Given the description of an element on the screen output the (x, y) to click on. 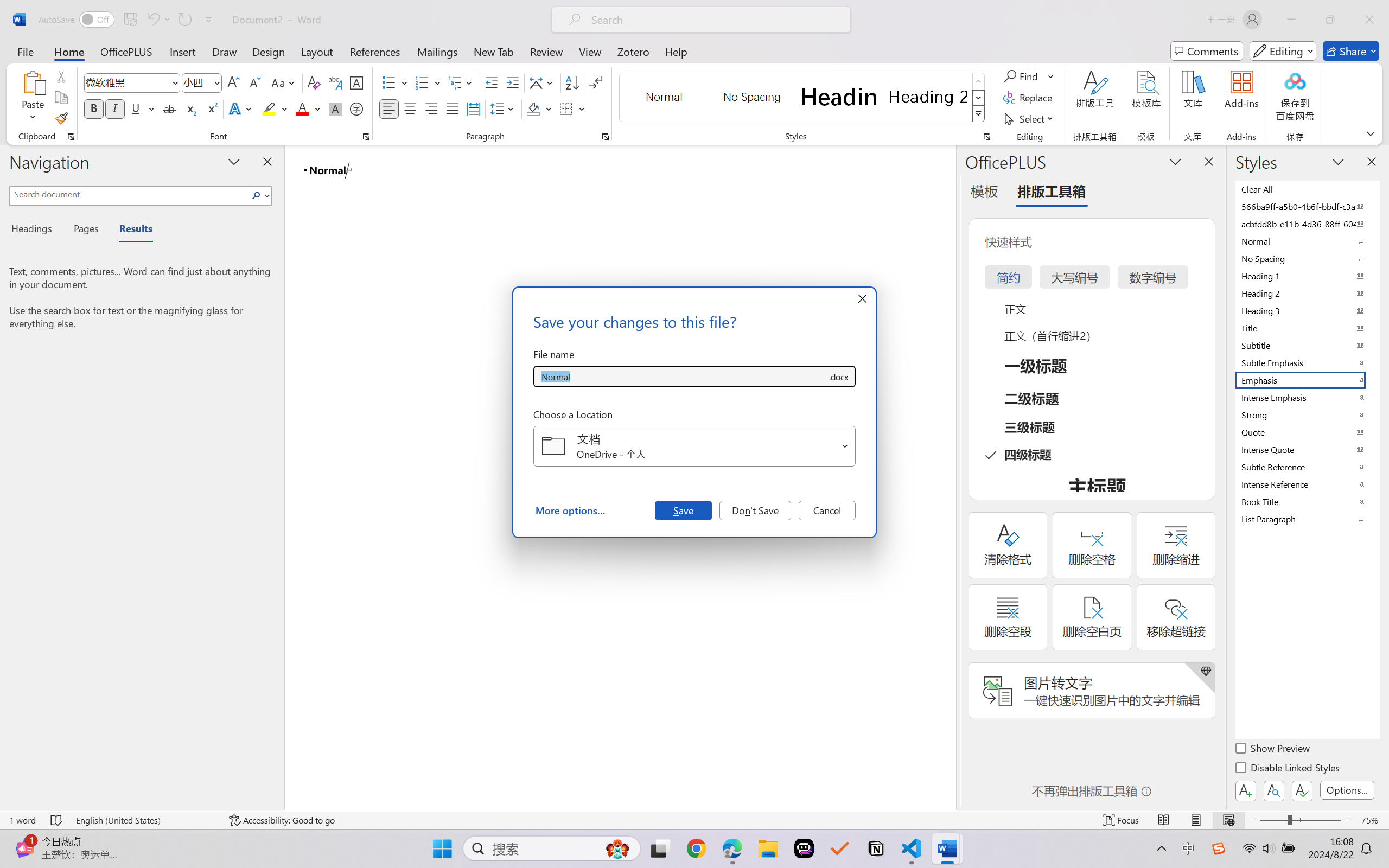
Center (409, 108)
Save as type (837, 376)
Grow Font (233, 82)
Class: NetUIButton (1301, 790)
Zoom In (1348, 819)
Intense Emphasis (1306, 397)
Numbering (421, 82)
Select (1030, 118)
Superscript (210, 108)
Repeat Style (184, 19)
